Given the description of an element on the screen output the (x, y) to click on. 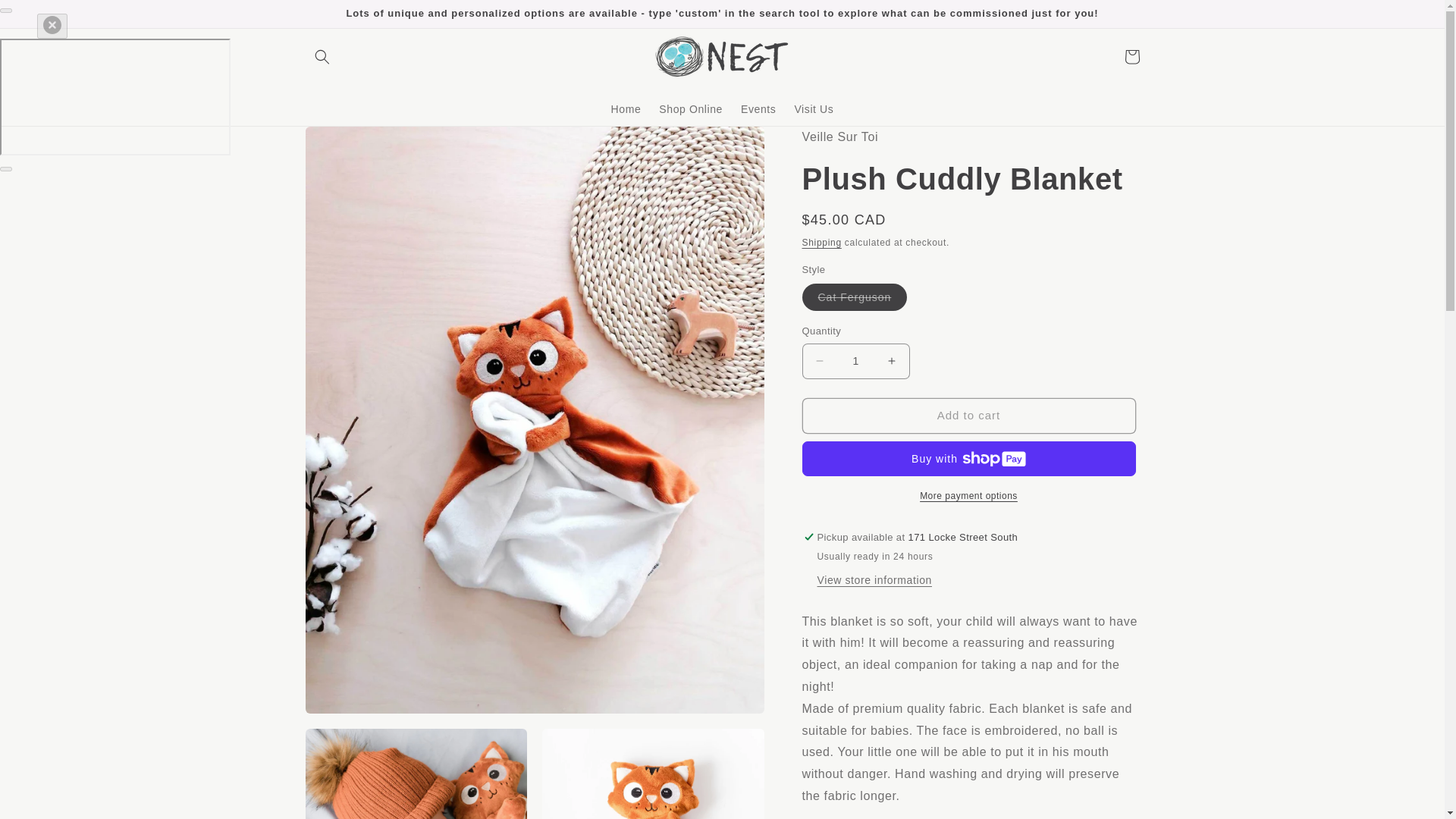
Events (758, 109)
Cart (1131, 56)
Shop Online (690, 109)
Add to cart (968, 416)
Skip to product information (350, 143)
Visit Us (813, 109)
More payment options (968, 495)
View store information (873, 581)
Increase quantity for Plush Cuddly Blanket (891, 361)
1 (856, 361)
Decrease quantity for Plush Cuddly Blanket (818, 361)
Home (626, 109)
Skip to content (45, 17)
Shipping (821, 242)
